Given the description of an element on the screen output the (x, y) to click on. 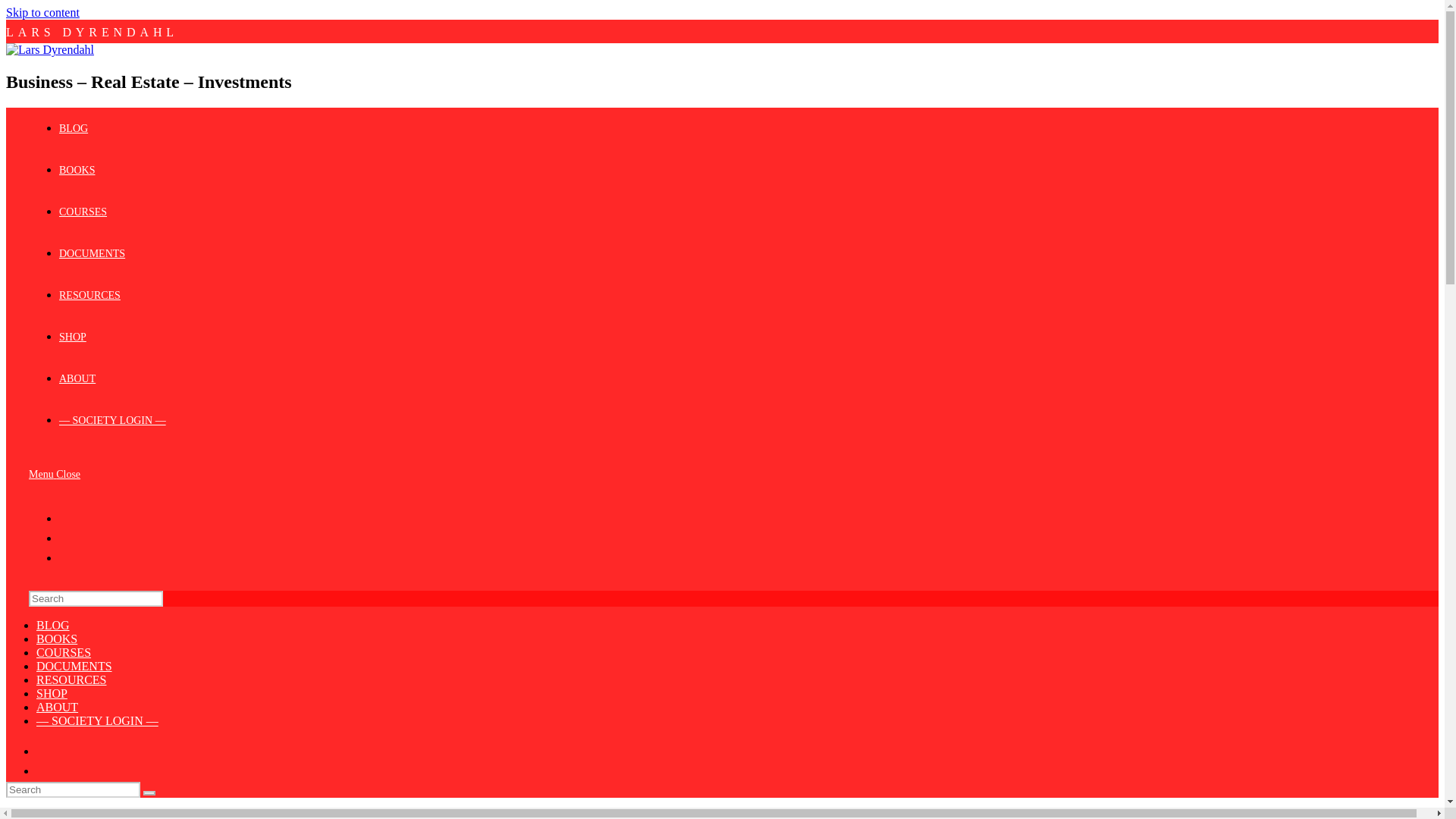
ABOUT (57, 707)
BLOG (73, 128)
BOOKS (76, 170)
DOCUMENTS (74, 666)
DOCUMENTS (92, 253)
RESOURCES (71, 679)
COURSES (63, 652)
BLOG (52, 625)
COURSES (82, 211)
SHOP (72, 337)
